Given the description of an element on the screen output the (x, y) to click on. 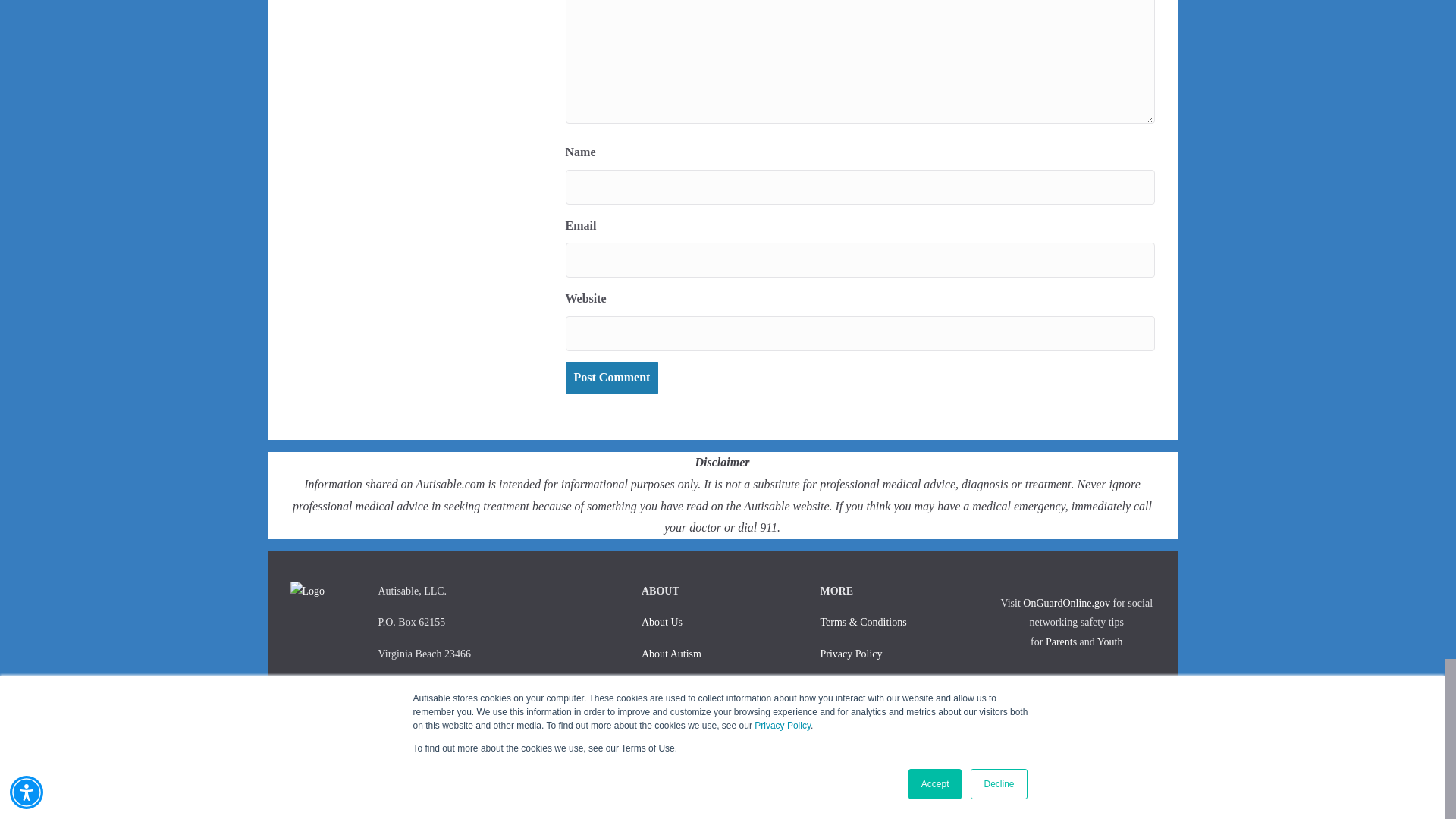
Post Comment (612, 377)
